Given the description of an element on the screen output the (x, y) to click on. 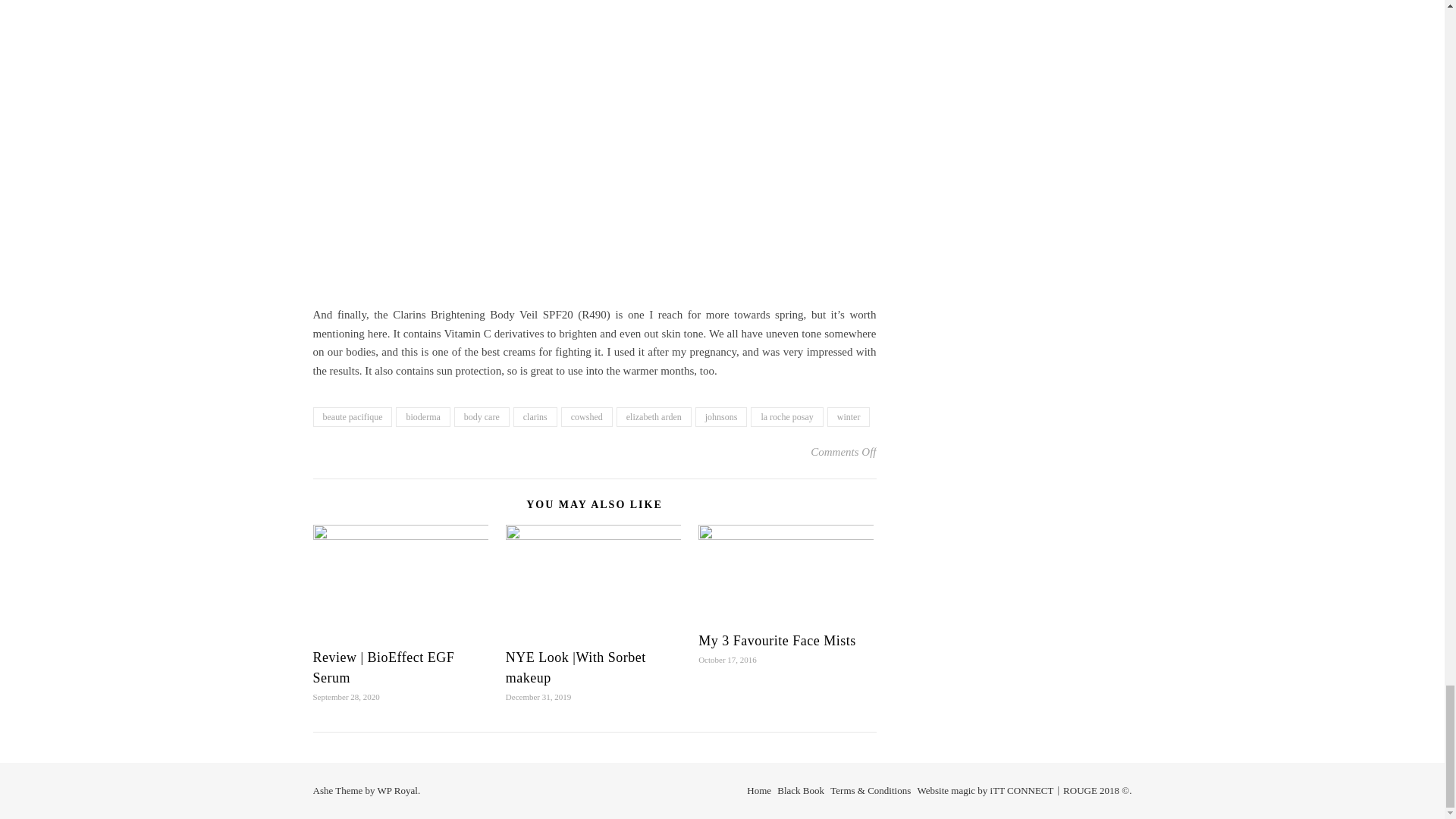
body care (481, 416)
winter (848, 416)
My 3 Favourite Face Mists (777, 640)
cowshed (586, 416)
Black Book (800, 790)
johnsons (721, 416)
Home (758, 790)
clarins (535, 416)
bioderma (422, 416)
beaute pacifique (352, 416)
Website magic by iTT CONNECT (985, 790)
elizabeth arden (653, 416)
la roche posay (786, 416)
